Given the description of an element on the screen output the (x, y) to click on. 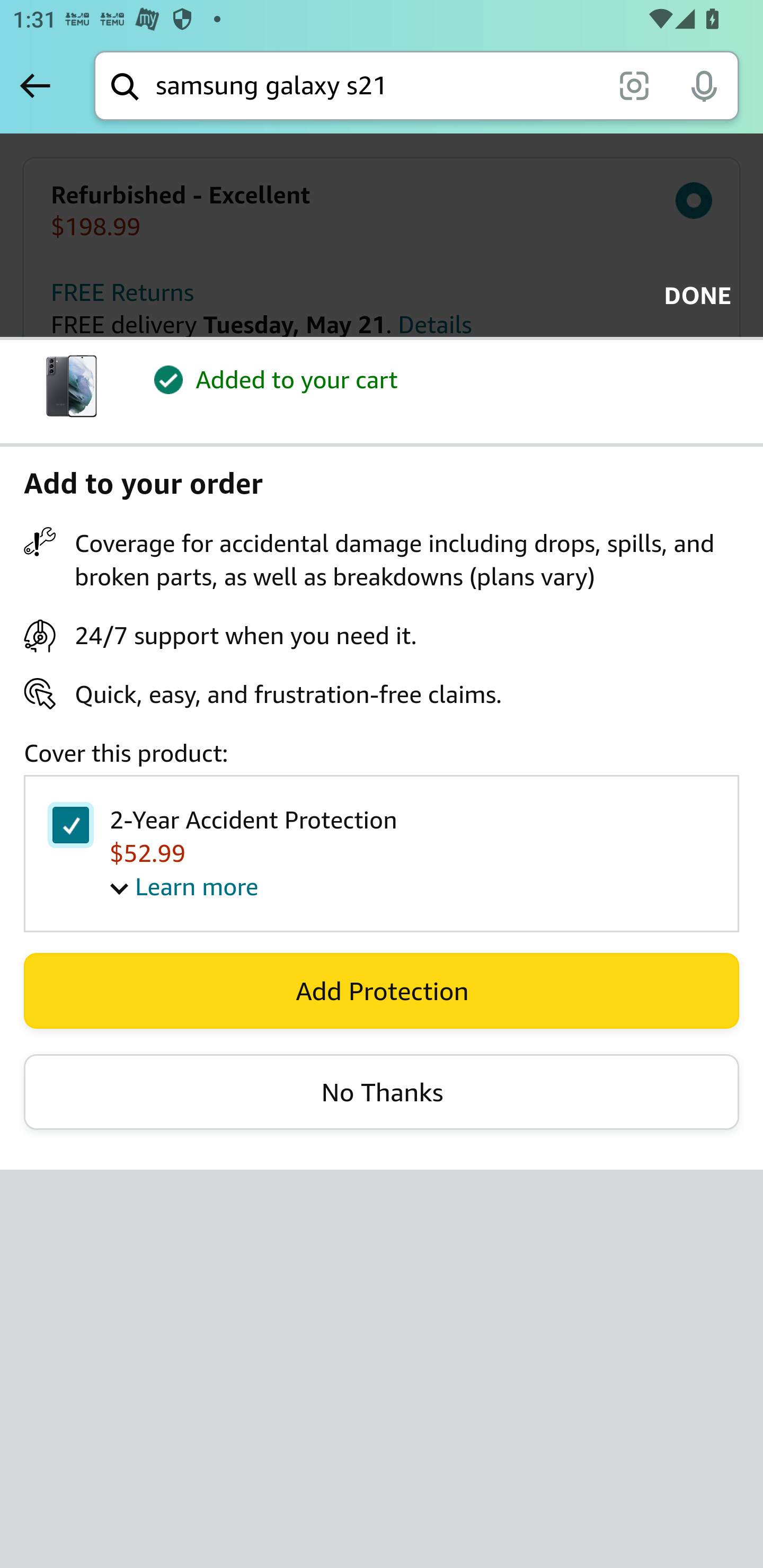
Back (35, 85)
scan it (633, 85)
DONE (691, 295)
Learn more (184, 886)
Add Protection (381, 990)
No Thanks (381, 1091)
